Given the description of an element on the screen output the (x, y) to click on. 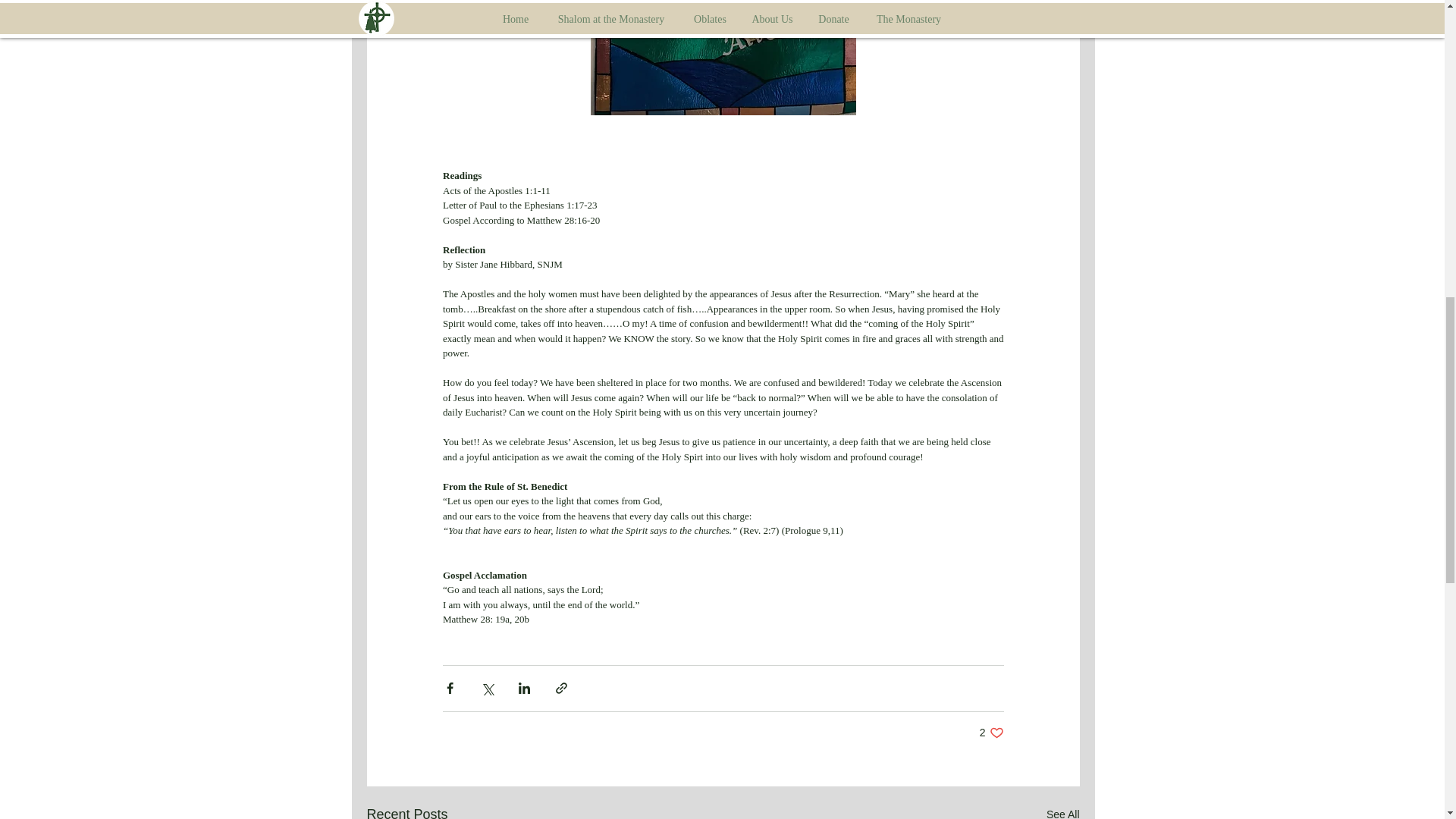
See All (1063, 811)
